Given the description of an element on the screen output the (x, y) to click on. 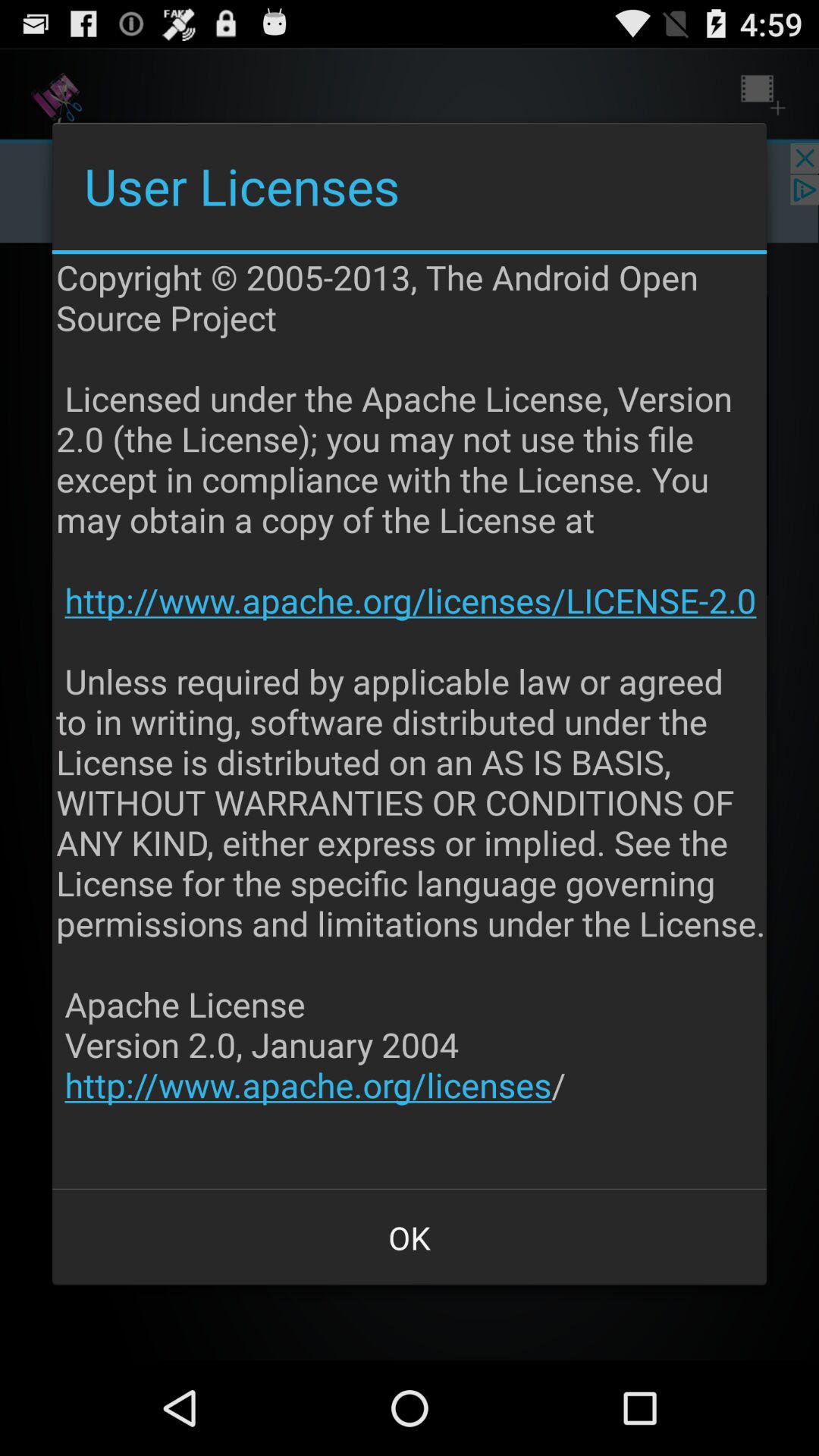
press ok (409, 1237)
